Given the description of an element on the screen output the (x, y) to click on. 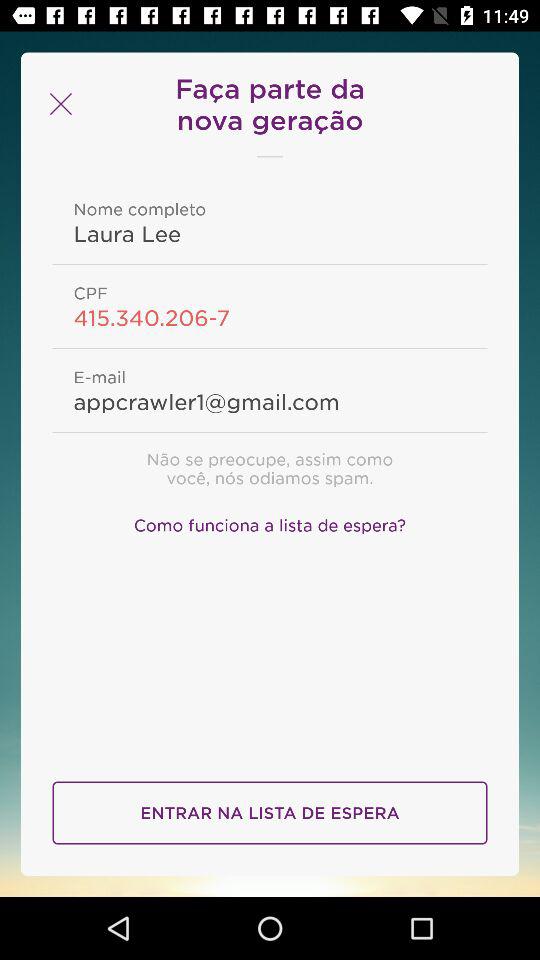
flip until 415 340 206 icon (269, 317)
